Given the description of an element on the screen output the (x, y) to click on. 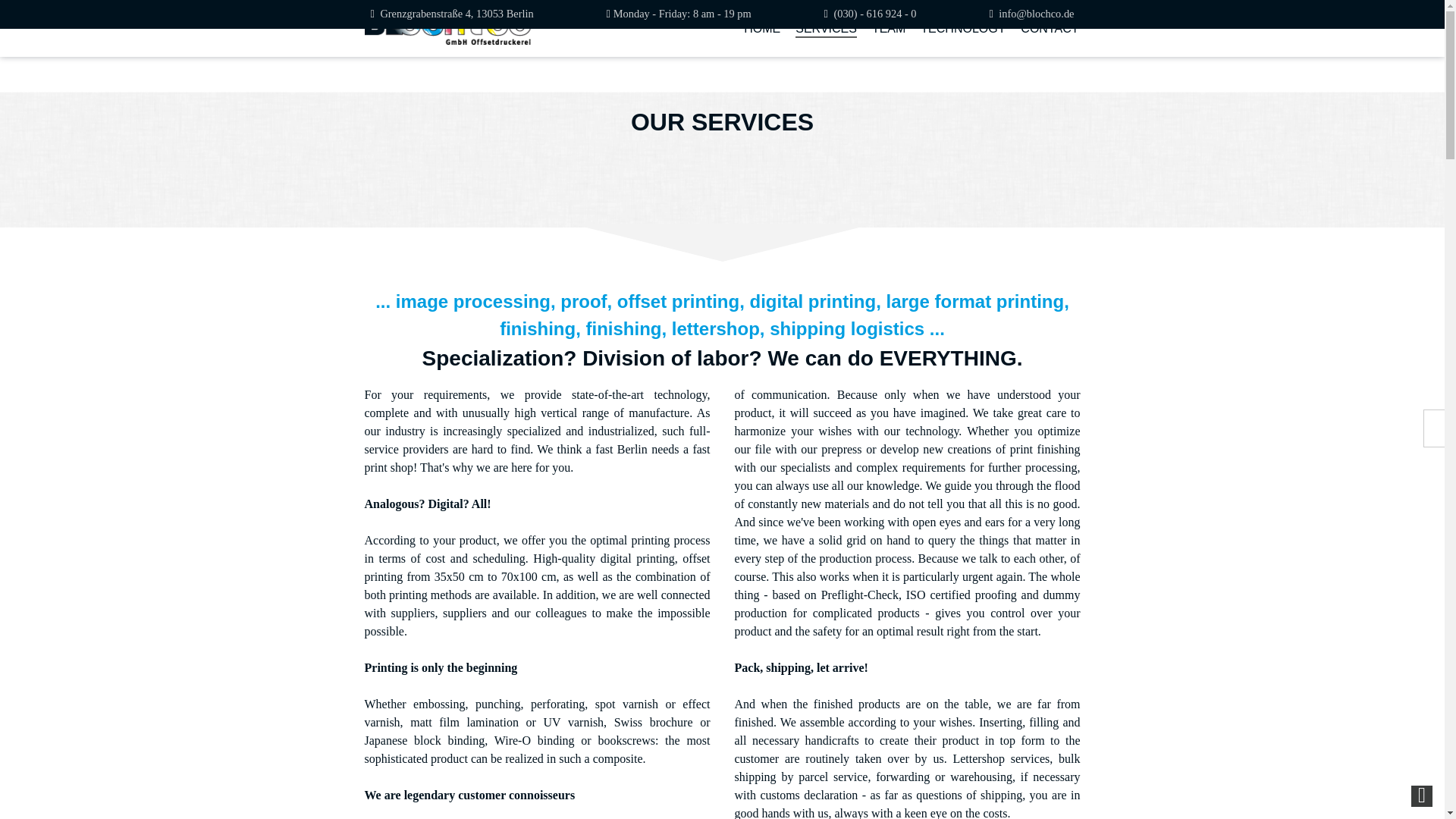
English (1434, 436)
HOME (762, 28)
TEAM (888, 28)
English (1434, 436)
SERVICES (825, 28)
Deutsch (1434, 420)
Deutsch (1434, 420)
TECHNOLOGY (963, 28)
CONTACT (1049, 28)
